Given the description of an element on the screen output the (x, y) to click on. 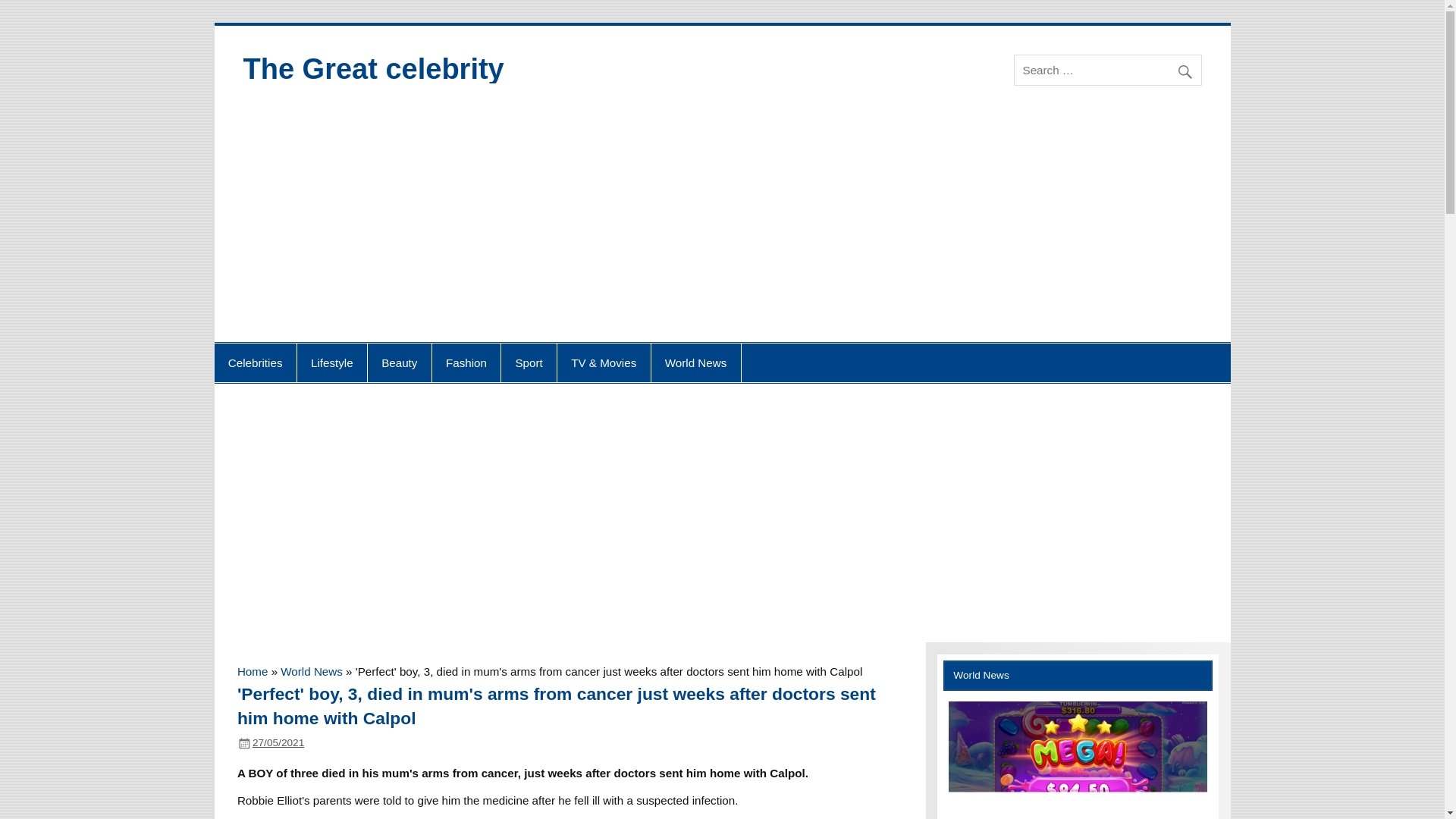
World News (311, 671)
Sport (528, 363)
Lifestyle (331, 363)
Celebrities (254, 363)
The Great celebrity (373, 69)
20:55 (277, 742)
Fashion (466, 363)
World News (695, 363)
The Guide to Winning Big in Sweet Bonanza Online Slot (1078, 760)
Beauty (399, 363)
Home (252, 671)
